Given the description of an element on the screen output the (x, y) to click on. 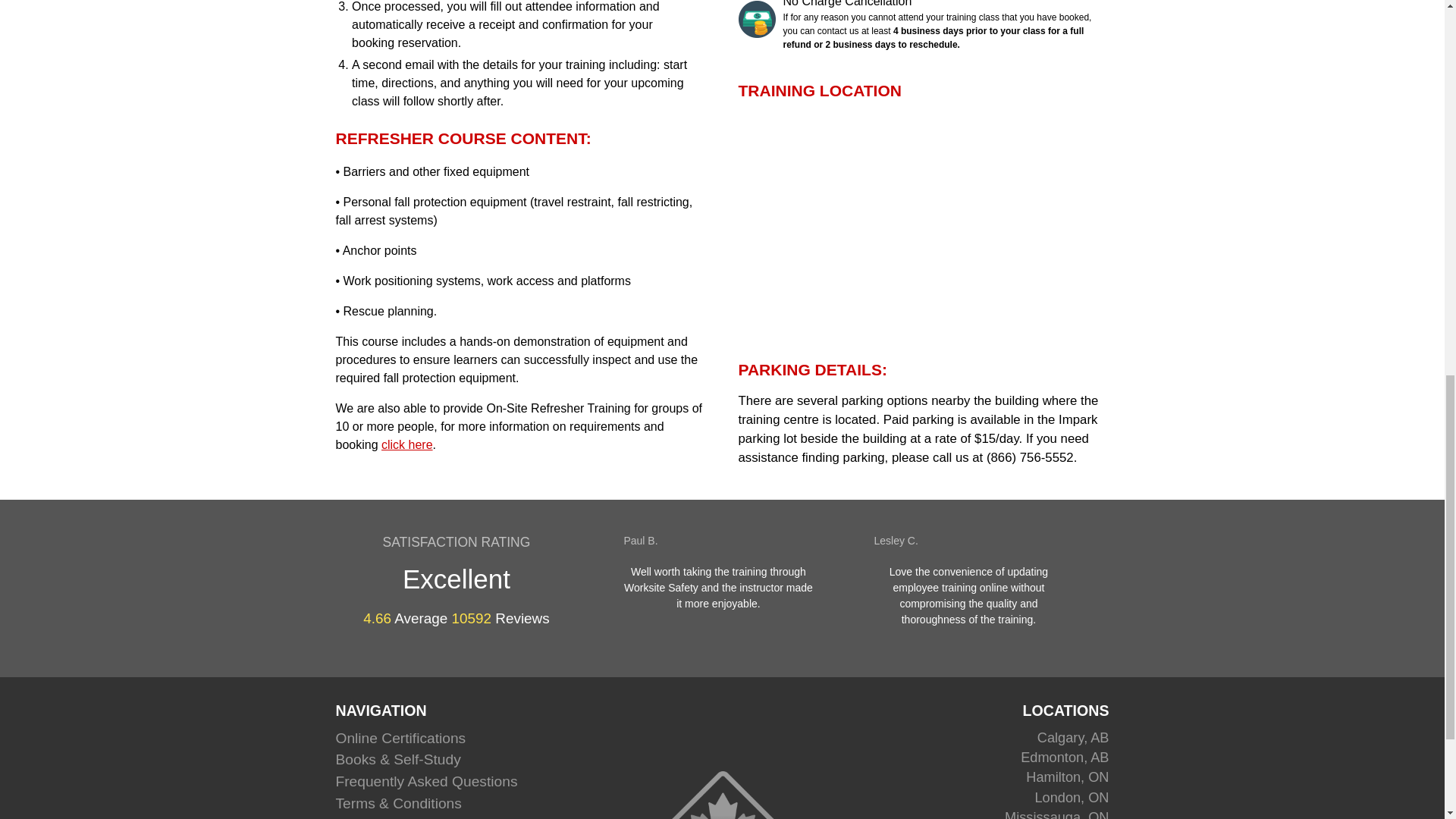
No Charge Cancellation (757, 18)
